Given the description of an element on the screen output the (x, y) to click on. 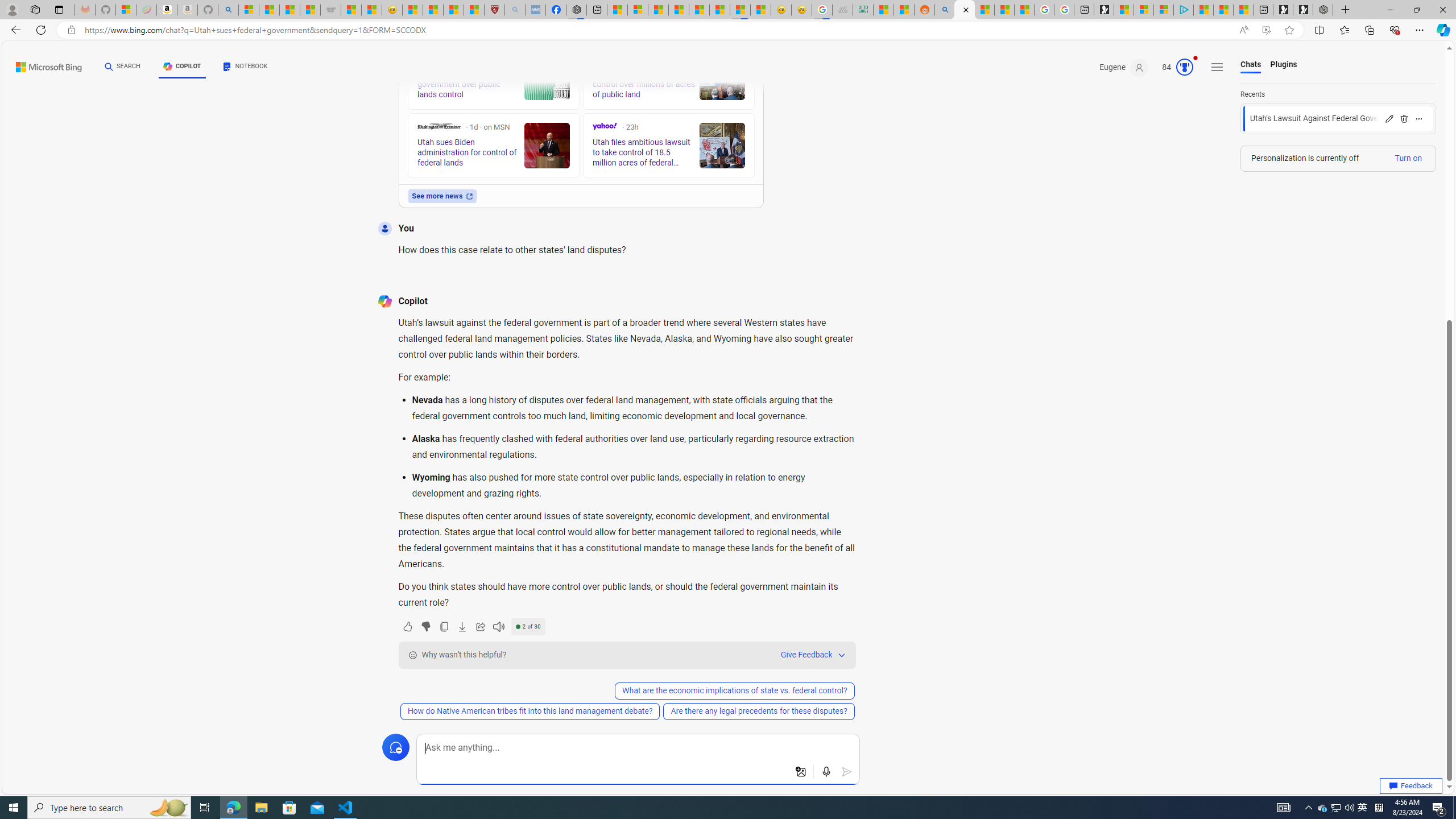
Turn on (1407, 157)
Read aloud (498, 626)
